Given the description of an element on the screen output the (x, y) to click on. 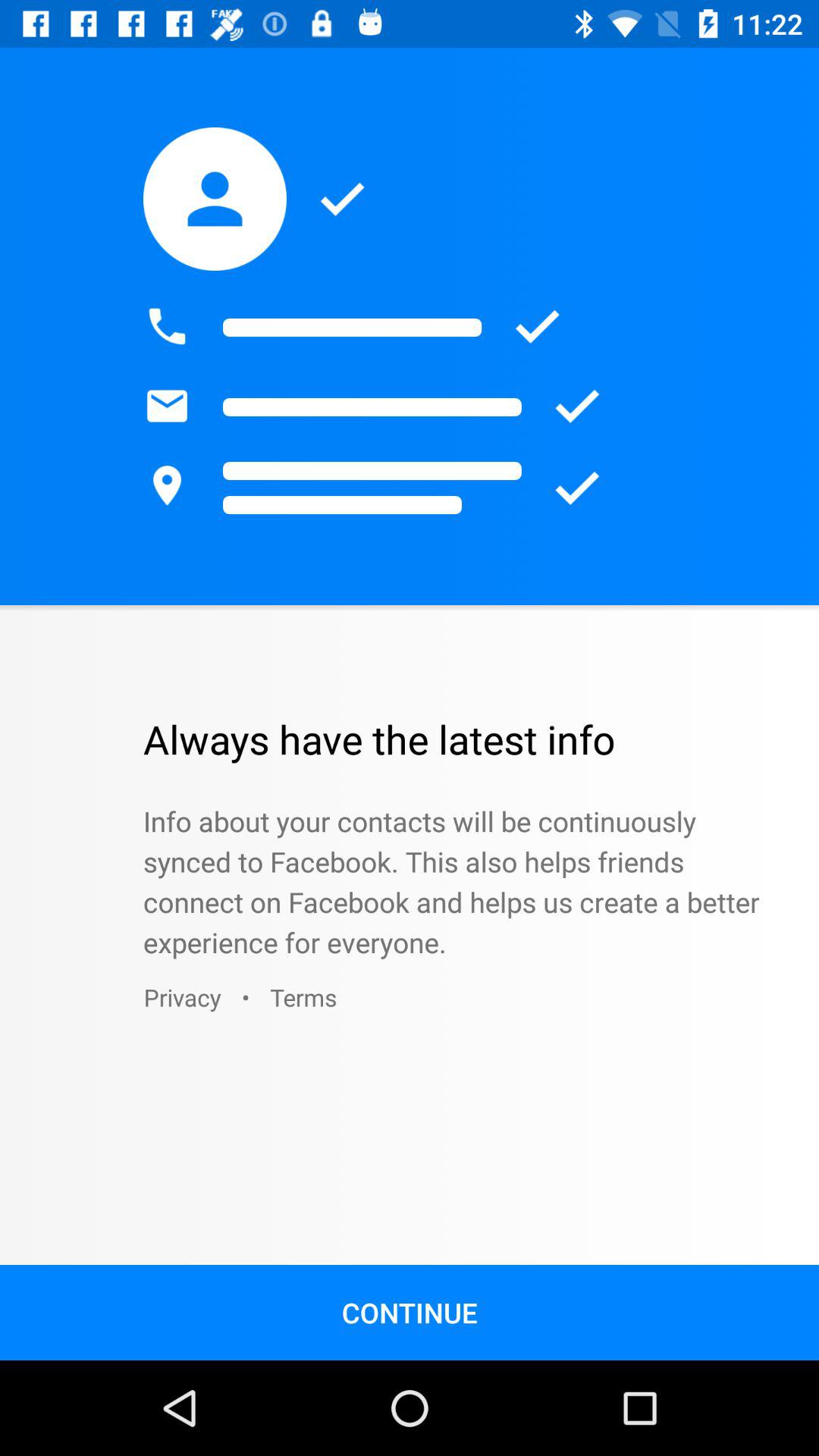
turn on the continue icon (409, 1312)
